Given the description of an element on the screen output the (x, y) to click on. 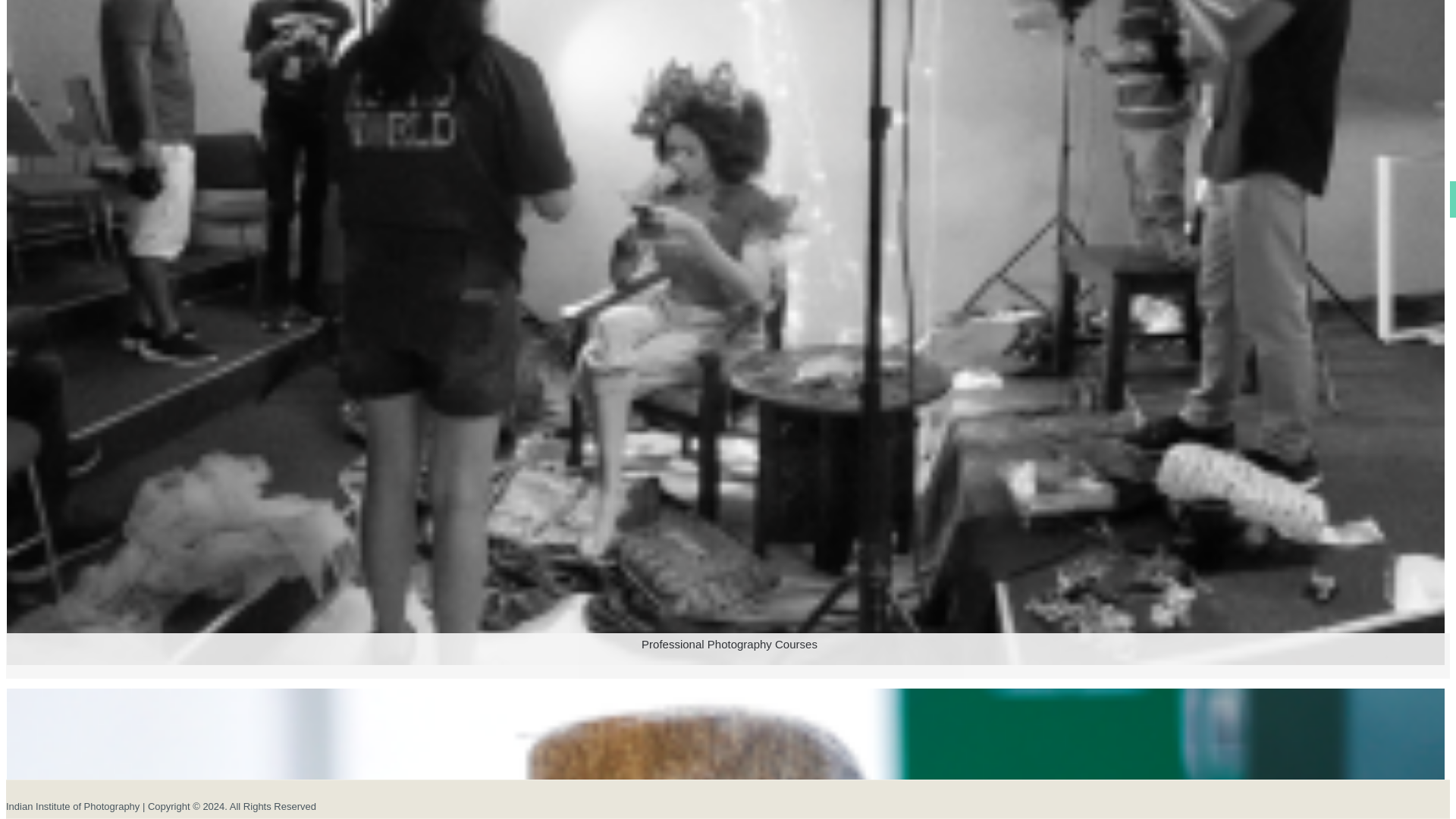
Professional Photography Courses (725, 684)
